Given the description of an element on the screen output the (x, y) to click on. 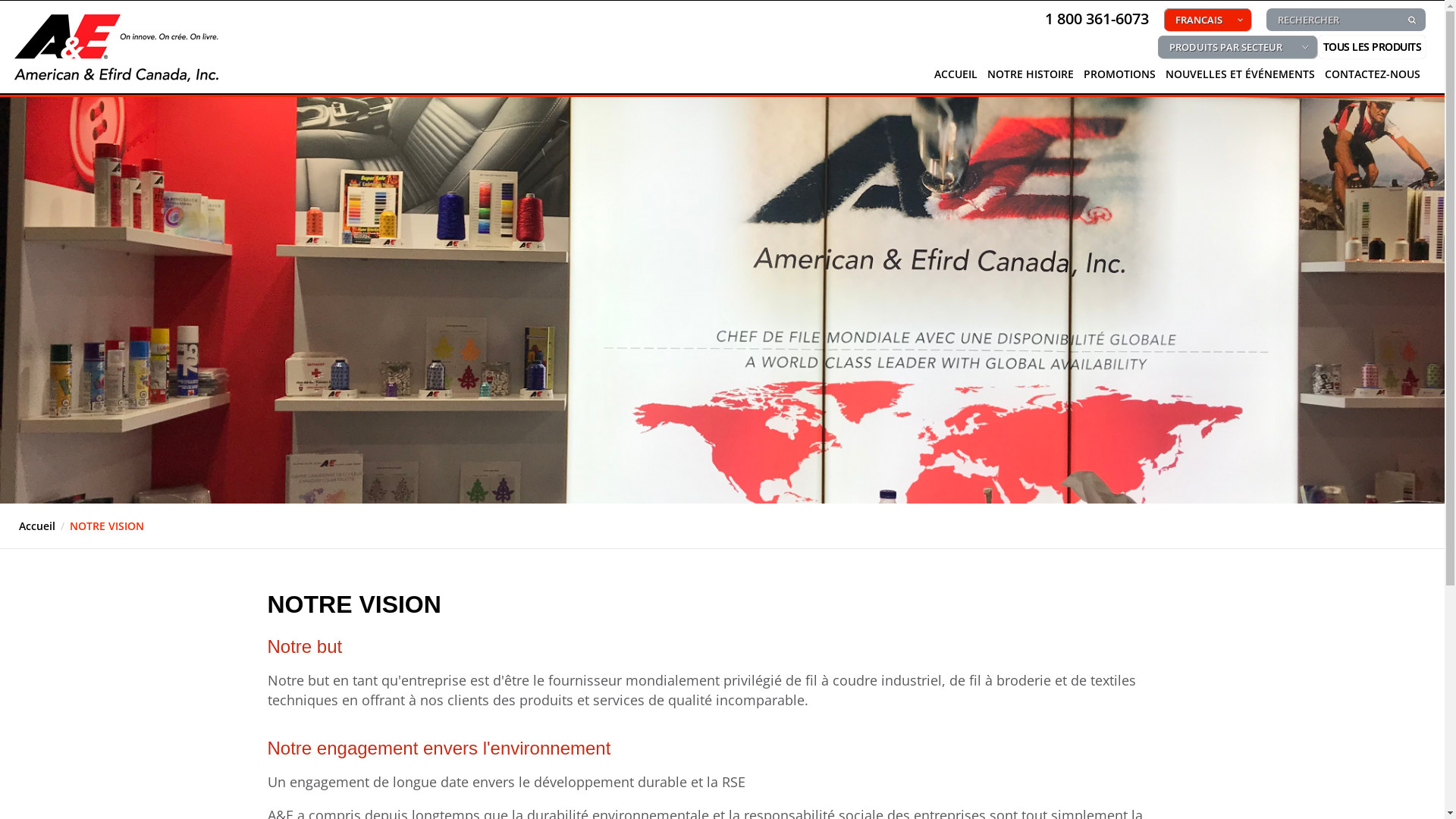
Accueil Element type: text (36, 525)
PRODUITS PAR SECTEUR Element type: text (1237, 46)
CONTACTEZ-NOUS Element type: text (1372, 77)
FRANCAIS Element type: text (1207, 19)
ACCUEIL Element type: text (955, 77)
NOTRE HISTOIRE Element type: text (1030, 77)
TOUS LES PRODUITS Element type: text (1371, 50)
PROMOTIONS Element type: text (1119, 77)
NOTRE VISION Element type: text (106, 525)
